Given the description of an element on the screen output the (x, y) to click on. 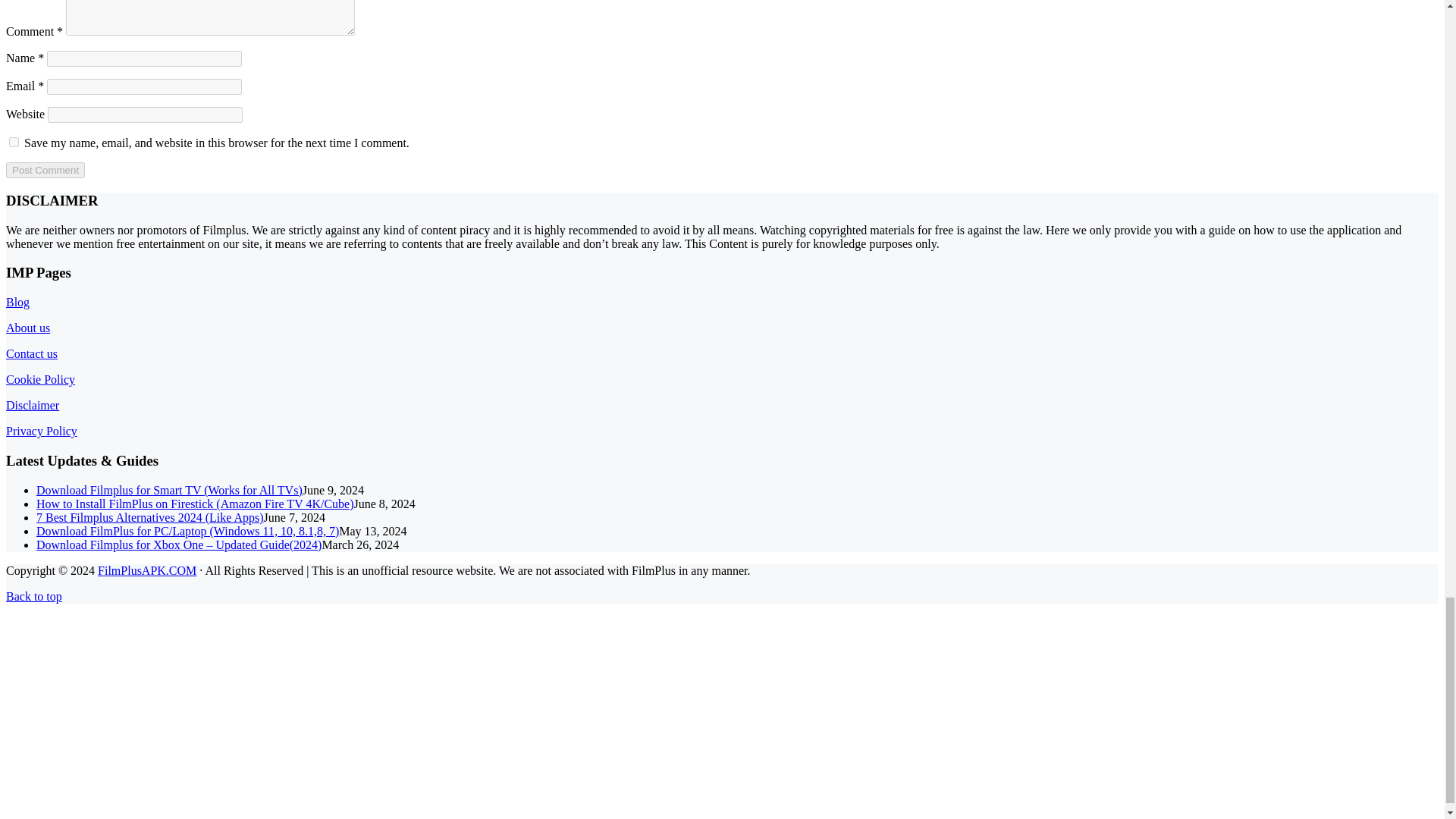
Privacy Policy (41, 431)
Contact us (31, 353)
Disclaimer (32, 404)
Cookie Policy (40, 379)
FilmPlusAPK.COM (146, 570)
Back to top (33, 595)
Blog (17, 301)
About us (27, 327)
Post Comment (44, 170)
Post Comment (44, 170)
yes (13, 142)
